Given the description of an element on the screen output the (x, y) to click on. 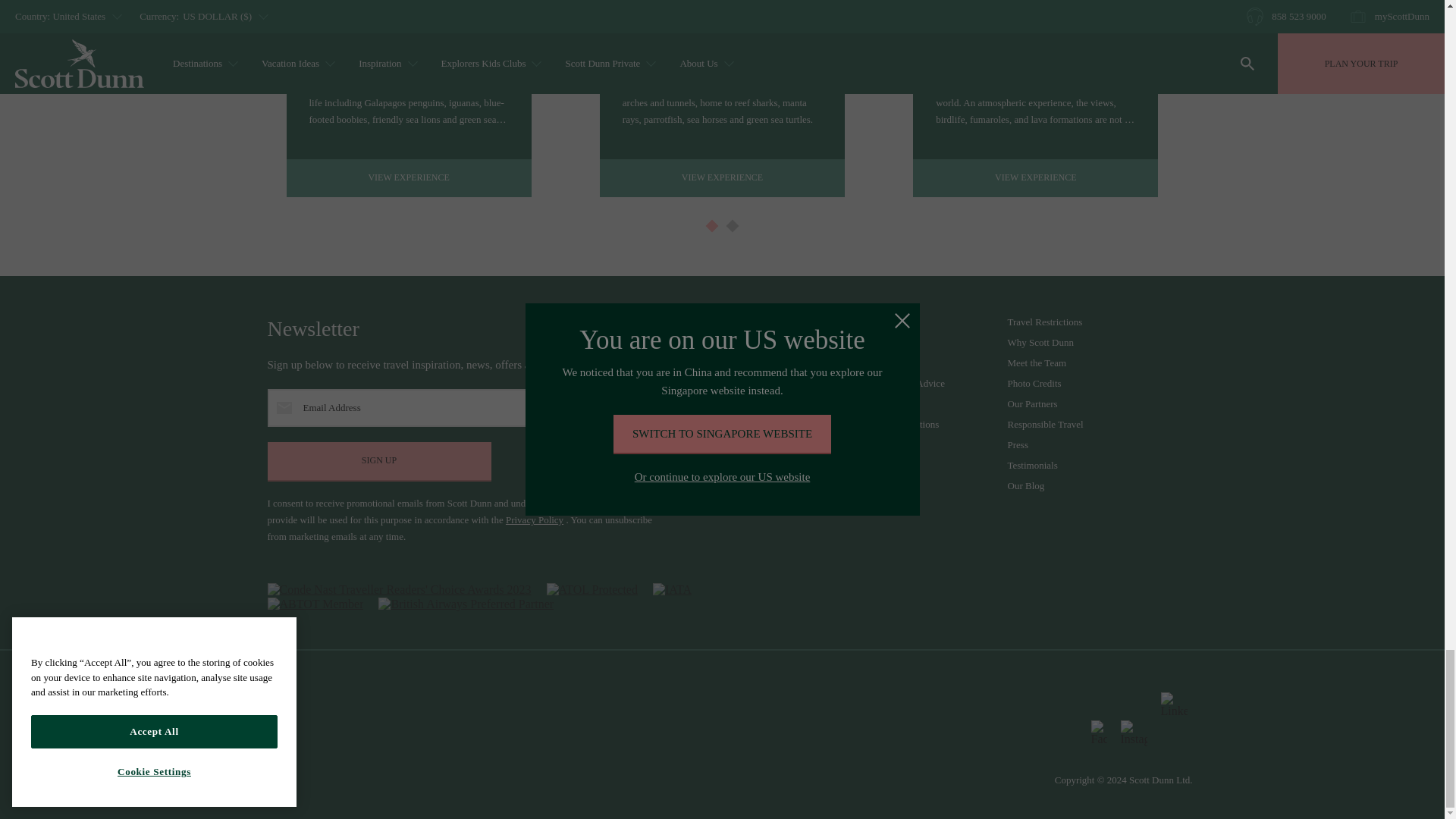
Your email address (463, 407)
